Given the description of an element on the screen output the (x, y) to click on. 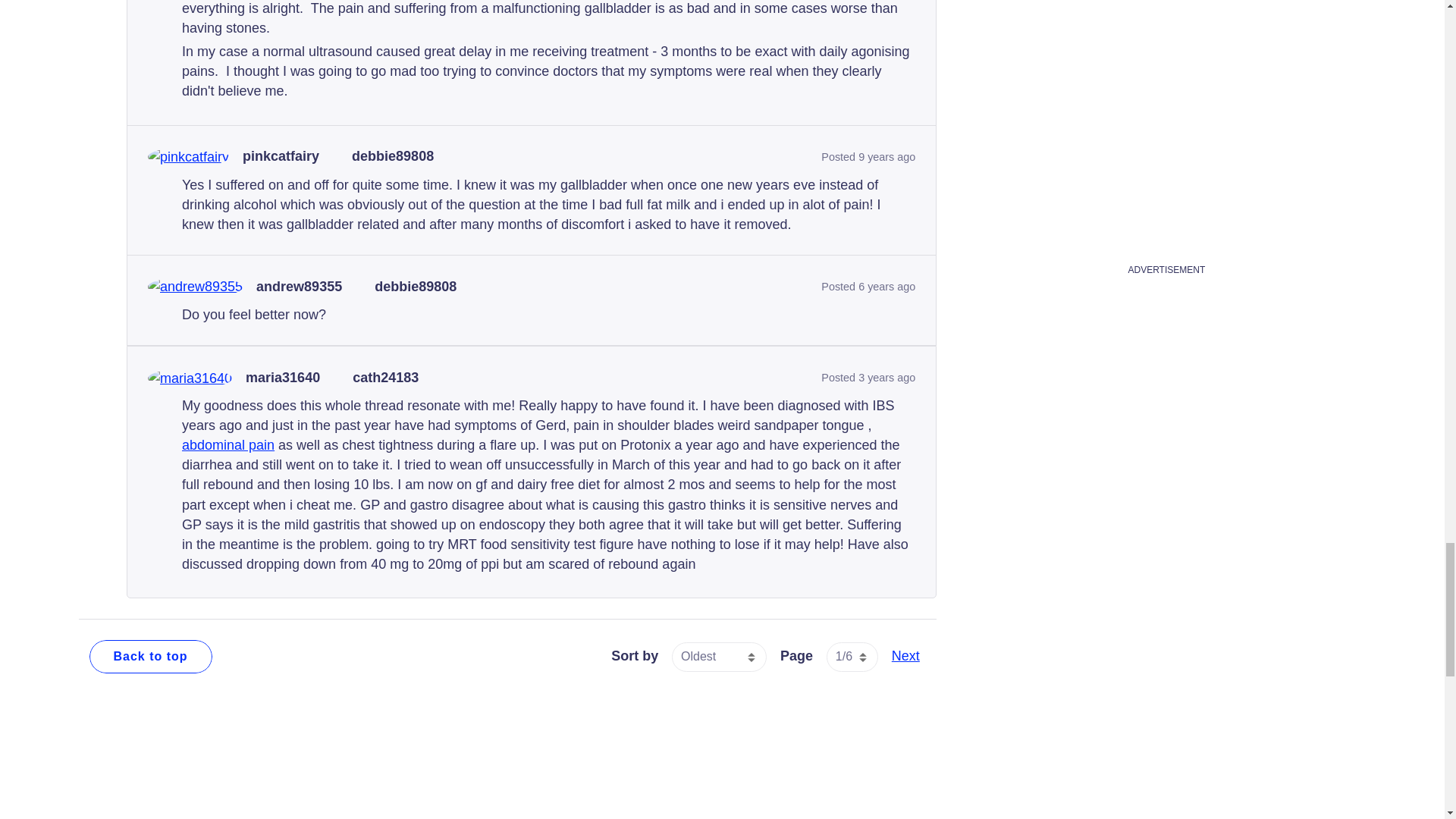
View andrew89355's profile (299, 287)
View maria31640's profile (283, 378)
Back to top (150, 656)
View pinkcatfairy's profile (280, 156)
